Given the description of an element on the screen output the (x, y) to click on. 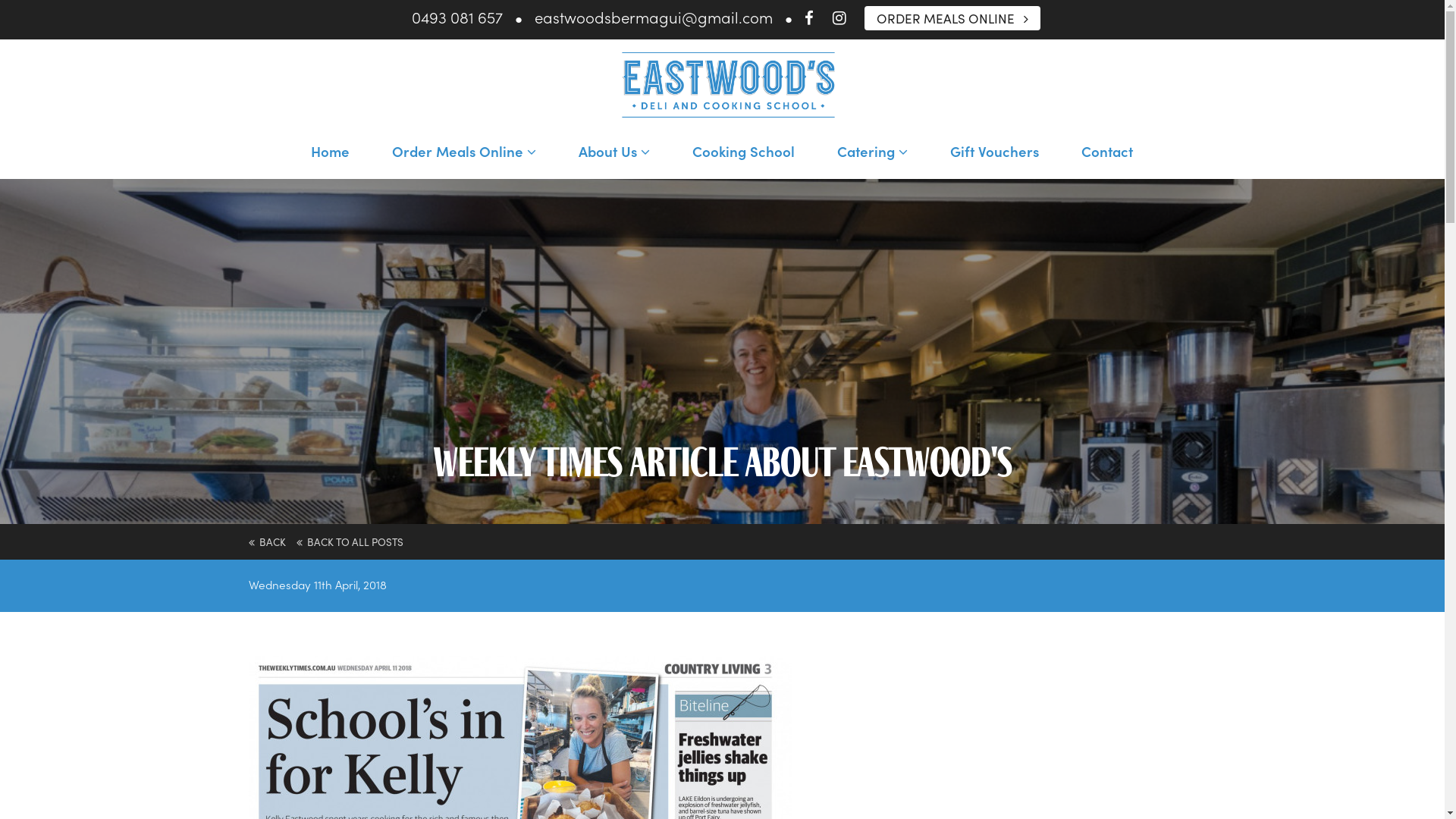
Cooking School Element type: text (743, 154)
Contact Element type: text (1106, 154)
eastwoodsbermagui@gmail.com Element type: text (653, 16)
Catering Element type: text (871, 154)
Gift Vouchers Element type: text (994, 154)
  BACK TO ALL POSTS Element type: text (348, 541)
Order Meals Online Element type: text (464, 154)
ORDER MEALS ONLINE   Element type: text (952, 18)
Home Element type: text (329, 154)
0493 081 657 Element type: text (457, 16)
  BACK Element type: text (266, 541)
About Us Element type: text (613, 154)
